Given the description of an element on the screen output the (x, y) to click on. 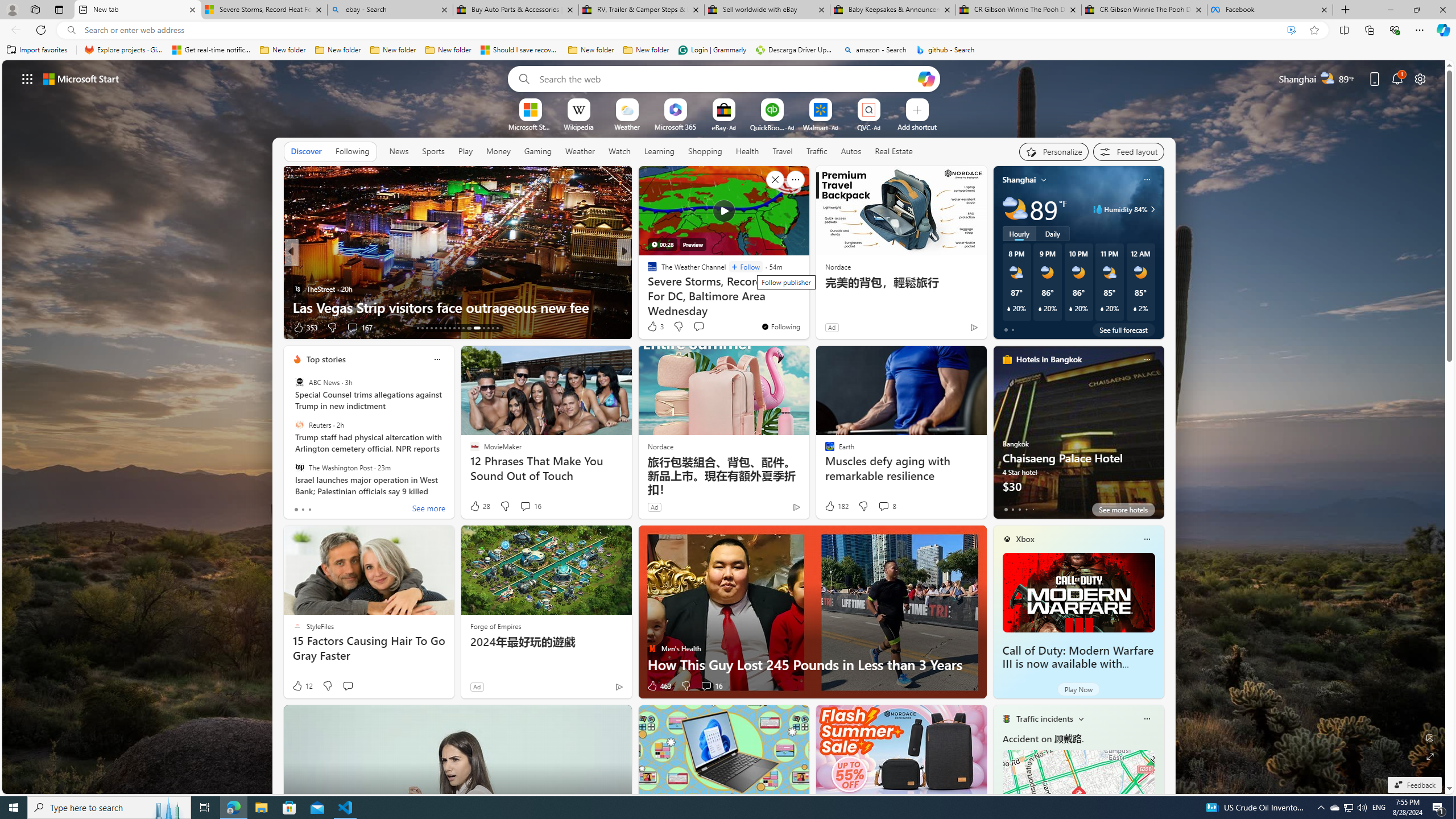
Humidity 84% (1150, 208)
View comments 1 Comment (705, 327)
Learning (658, 151)
View comments 8 Comment (883, 505)
Weather (579, 151)
Baby Keepsakes & Announcements for sale | eBay (892, 9)
Hotels in Bangkok (1048, 359)
182 Like (835, 505)
tab-2 (1019, 509)
Dislike (685, 685)
Xbox (1025, 538)
